Given the description of an element on the screen output the (x, y) to click on. 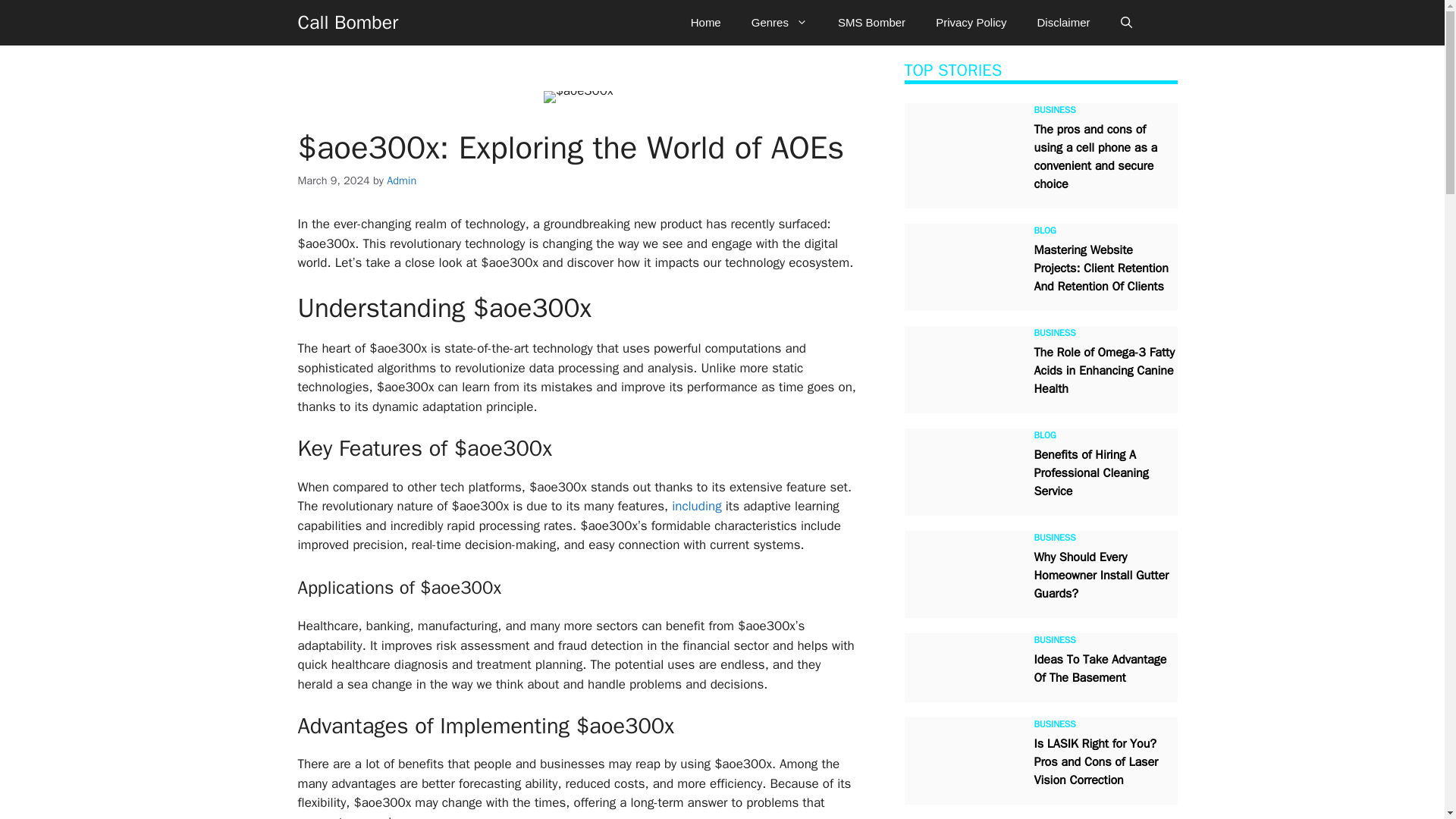
Home (705, 22)
Genres (779, 22)
BUSINESS (1054, 332)
Privacy Policy (971, 22)
BUSINESS (1054, 110)
View all posts by Admin (401, 180)
BLOG (1045, 230)
The Role of Omega-3 Fatty Acids in Enhancing Canine Health (1103, 370)
including (696, 505)
